Given the description of an element on the screen output the (x, y) to click on. 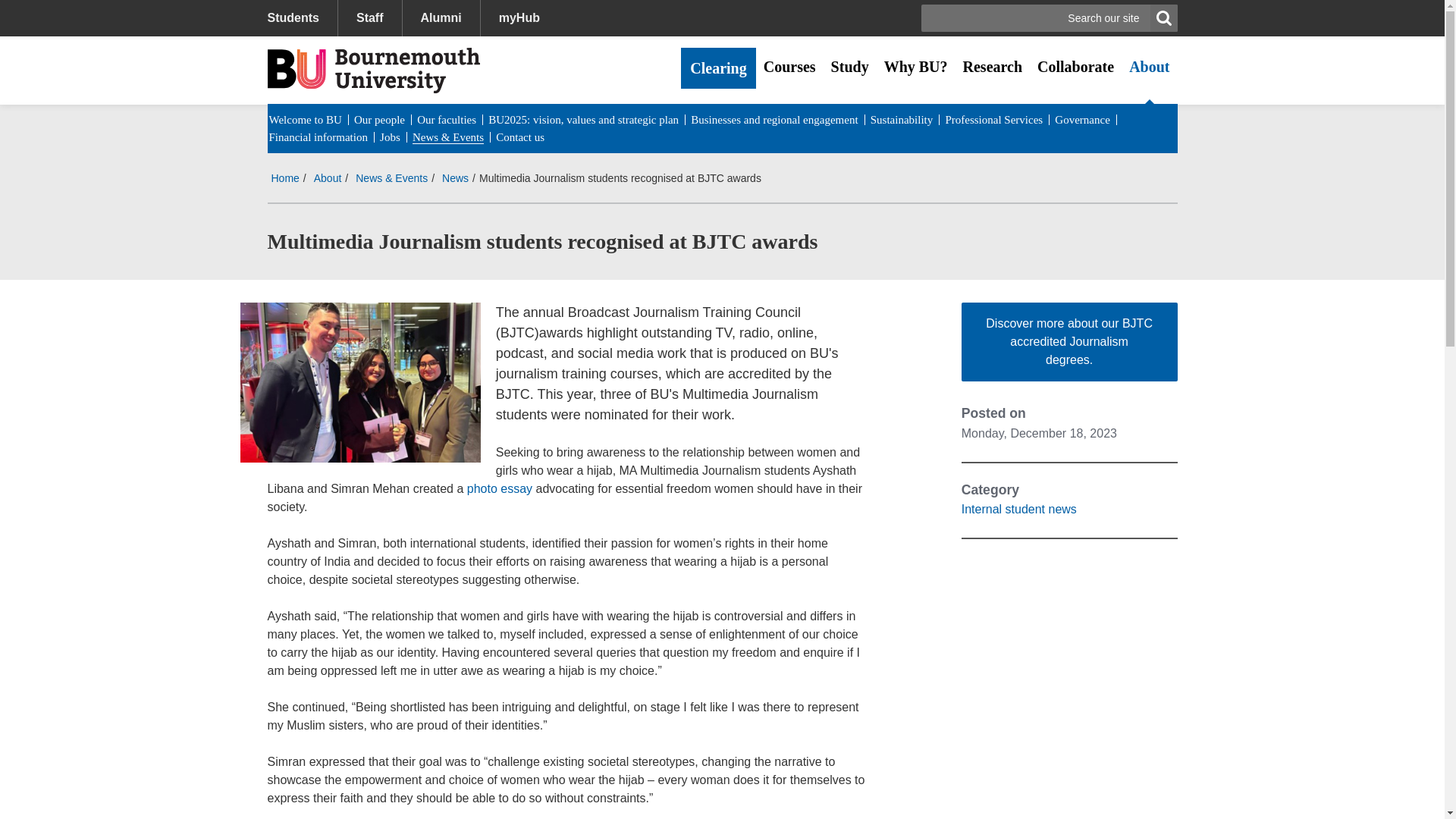
Search (1163, 17)
Alumni (440, 18)
myHub (518, 18)
Research (992, 66)
Bournemouth University (372, 70)
Courses (789, 66)
Enter the terms you wish to search for. (1049, 17)
Search (1163, 17)
Staff (369, 18)
Clearing (718, 67)
Why BU? (915, 66)
BJTC award (360, 382)
Study (850, 66)
Skip to main content (66, 11)
Students (301, 18)
